Given the description of an element on the screen output the (x, y) to click on. 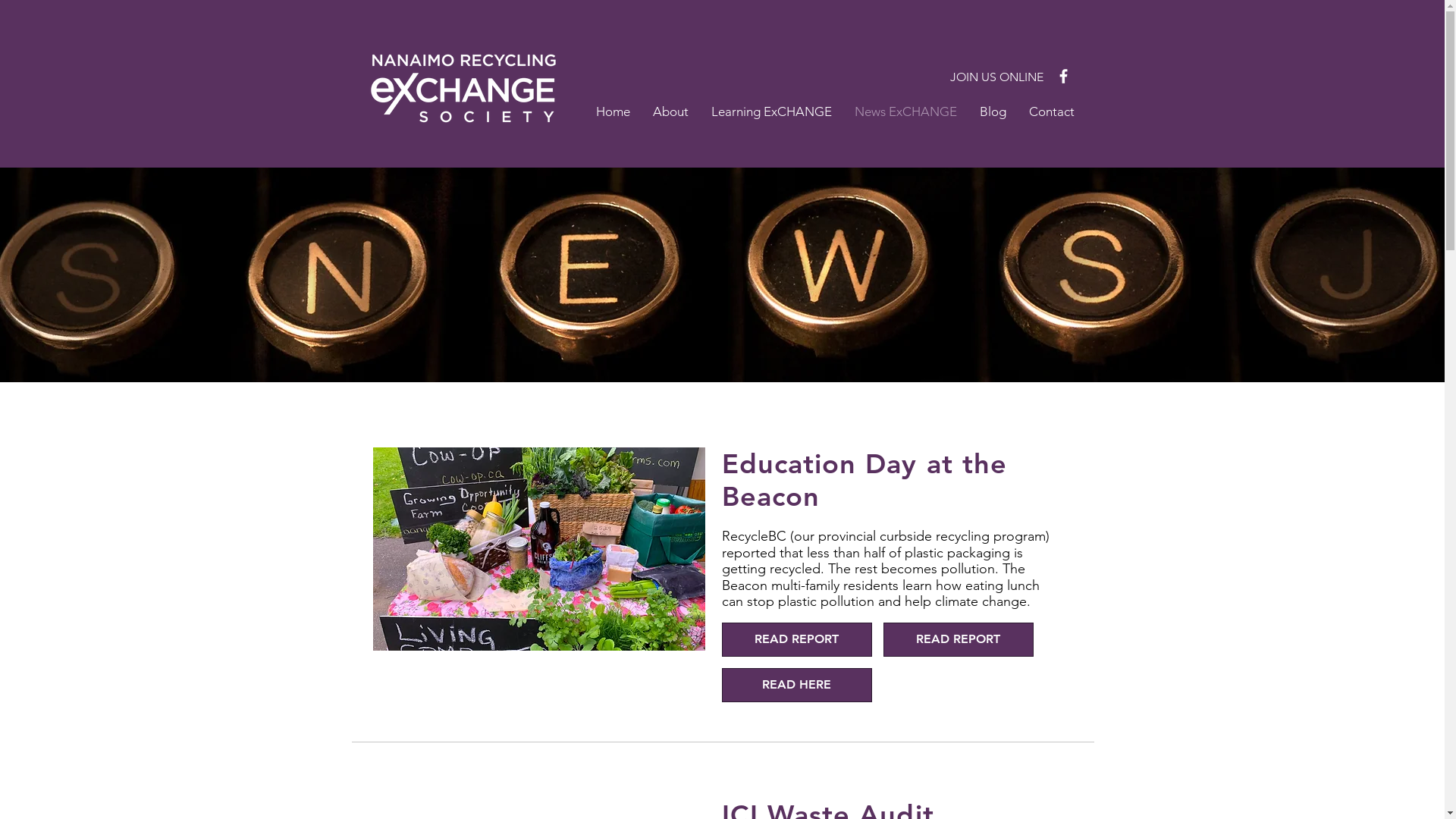
Blog Element type: text (991, 111)
READ HERE Element type: text (796, 685)
Home Element type: text (611, 111)
About Element type: text (670, 111)
Contact Element type: text (1051, 111)
Learning ExCHANGE Element type: text (770, 111)
News ExCHANGE Element type: text (905, 111)
READ REPORT Element type: text (796, 639)
READ REPORT Element type: text (957, 639)
